Given the description of an element on the screen output the (x, y) to click on. 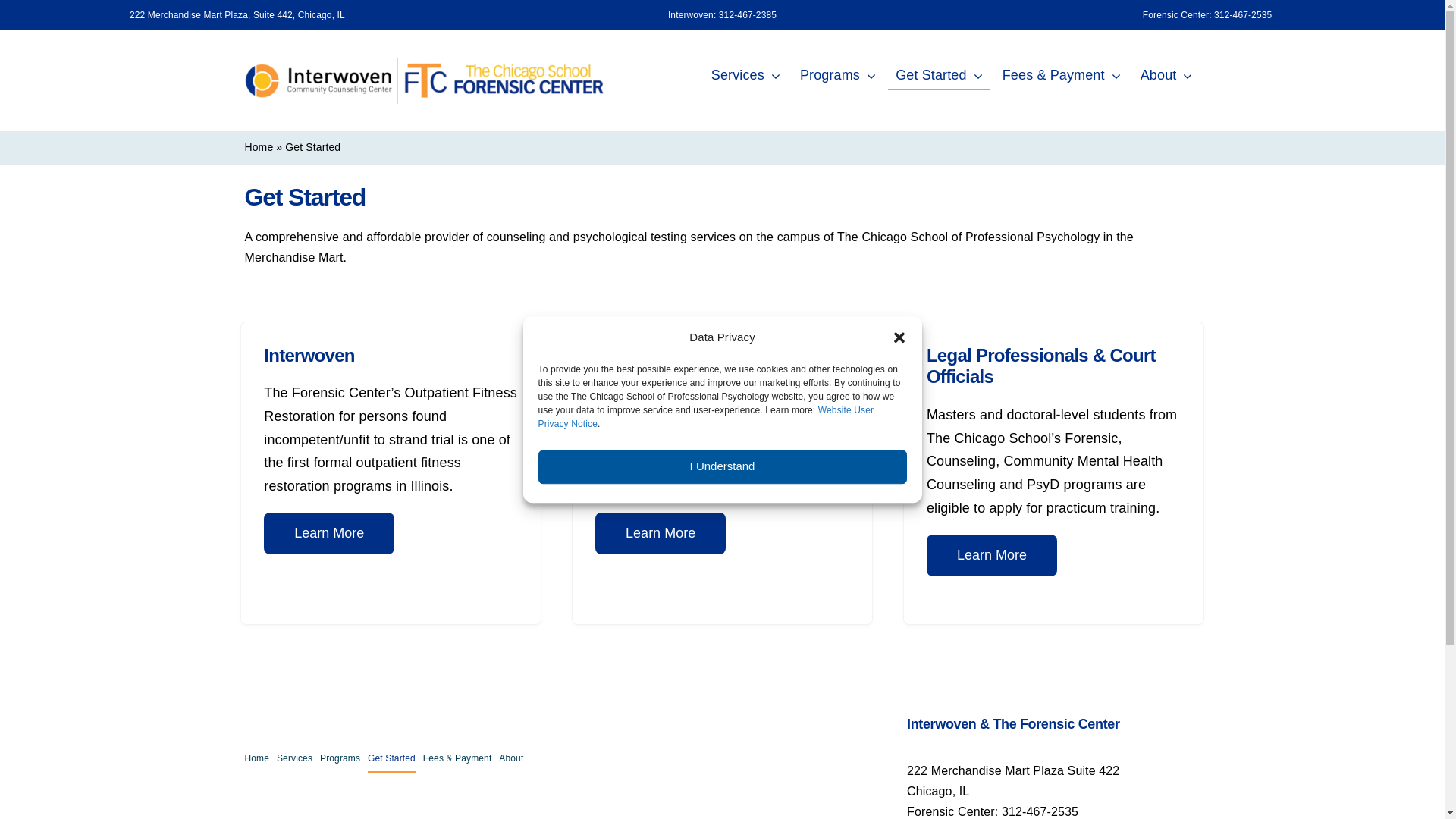
Website User Privacy Notice Element type: text (706, 416)
Get Started Element type: text (939, 76)
Services Element type: text (745, 76)
About Element type: text (1166, 76)
Learn More Element type: text (660, 533)
Home Element type: text (256, 759)
Fees & Payment Element type: text (1061, 76)
Services Element type: text (294, 759)
Learn More Element type: text (328, 533)
Fees & Payment Element type: text (457, 759)
Programs Element type: text (340, 759)
Get Started Element type: text (391, 759)
About Element type: text (510, 759)
Programs Element type: text (837, 76)
Learn More Element type: text (991, 555)
I Understand Element type: text (722, 466)
Home Element type: text (258, 147)
